Given the description of an element on the screen output the (x, y) to click on. 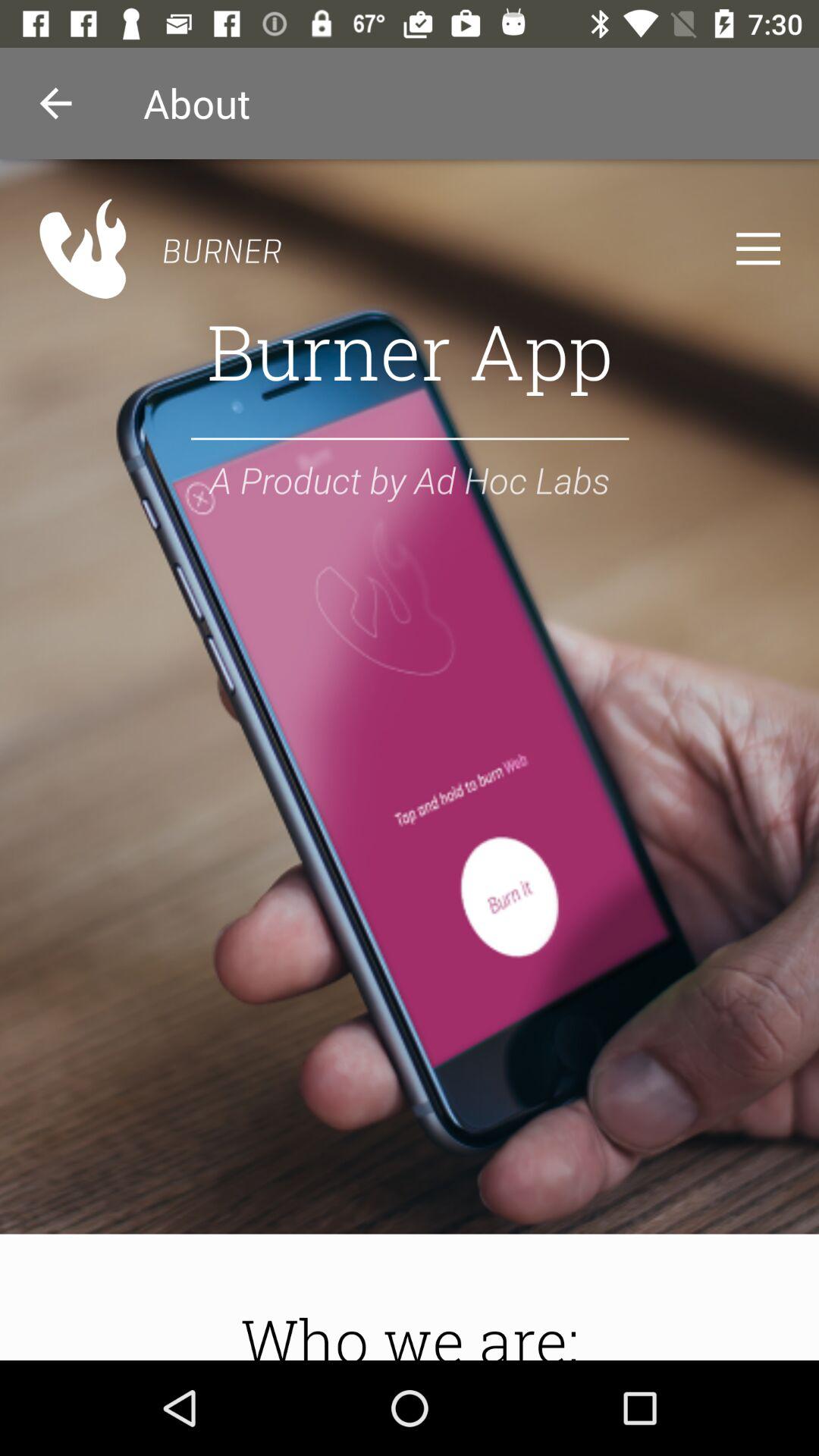
sereen page (409, 759)
